Given the description of an element on the screen output the (x, y) to click on. 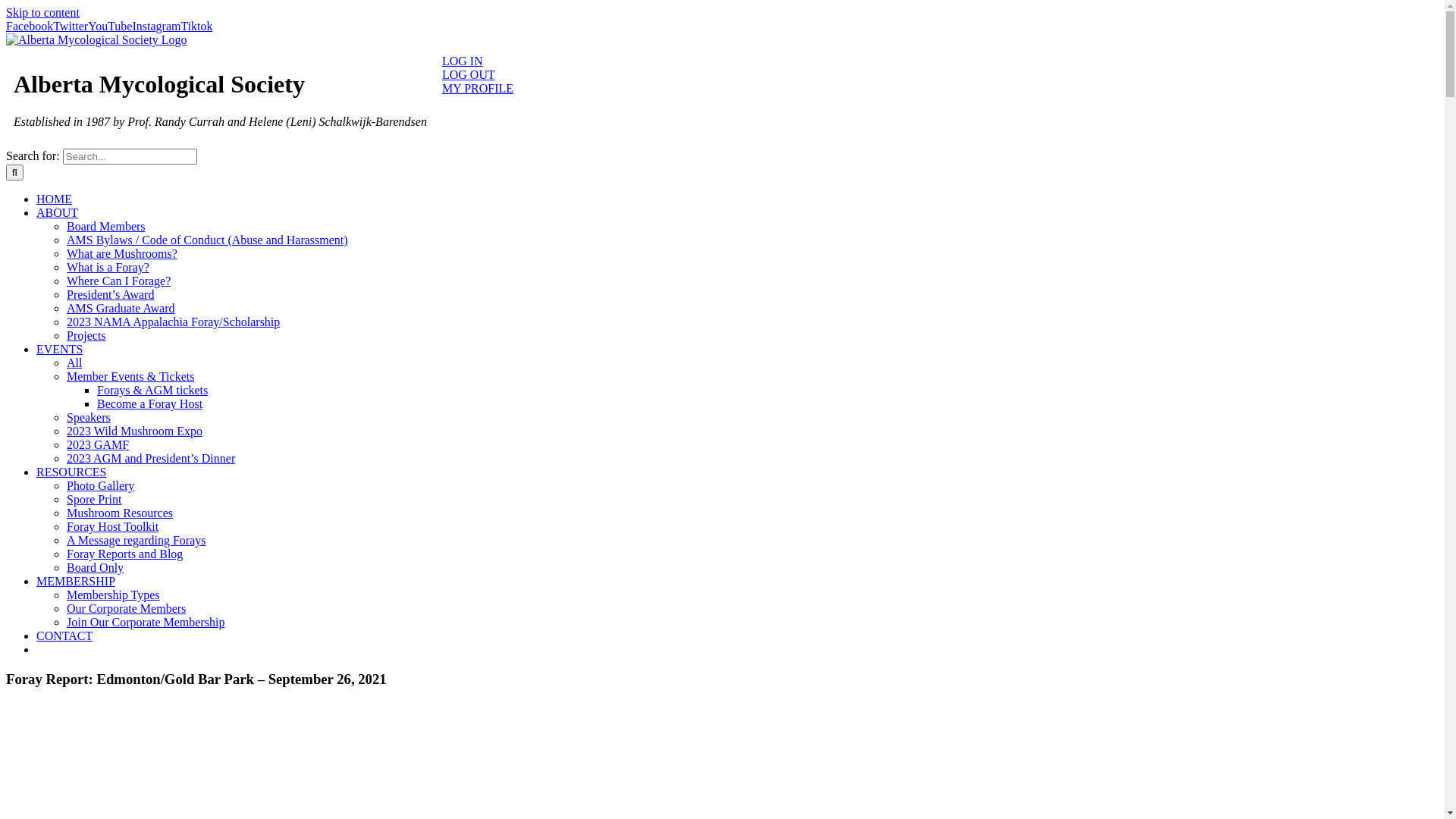
Our Corporate Members Element type: text (125, 608)
All Element type: text (73, 362)
Instagram Element type: text (155, 25)
Join Our Corporate Membership Element type: text (145, 621)
A Message regarding Forays Element type: text (136, 539)
Facebook Element type: text (29, 25)
Forays & AGM tickets Element type: text (152, 389)
Speakers Element type: text (88, 417)
HOME Element type: text (54, 198)
LOG OUT Element type: text (468, 74)
Become a Foray Host Element type: text (149, 403)
What is a Foray? Element type: text (107, 266)
MY PROFILE Element type: text (477, 87)
MEMBERSHIP Element type: text (75, 580)
EVENTS Element type: text (59, 348)
Board Members Element type: text (105, 225)
Member Events & Tickets Element type: text (130, 376)
Foray Host Toolkit Element type: text (112, 526)
ABOUT Element type: text (57, 212)
Board Only Element type: text (94, 567)
YouTube Element type: text (109, 25)
LOG IN Element type: text (462, 60)
What are Mushrooms? Element type: text (121, 253)
CONTACT Element type: text (64, 635)
Where Can I Forage? Element type: text (118, 280)
AMS Bylaws / Code of Conduct (Abuse and Harassment) Element type: text (207, 239)
Tiktok Element type: text (196, 25)
Membership Types Element type: text (113, 594)
Spore Print Element type: text (93, 498)
Foray Reports and Blog Element type: text (124, 553)
Mushroom Resources Element type: text (119, 512)
Projects Element type: text (86, 335)
AMS Graduate Award Element type: text (120, 307)
2023 Wild Mushroom Expo Element type: text (134, 430)
Photo Gallery Element type: text (100, 485)
2023 NAMA Appalachia Foray/Scholarship Element type: text (172, 321)
Skip to content Element type: text (42, 12)
2023 GAMF Element type: text (97, 444)
RESOURCES Element type: text (71, 471)
Twitter Element type: text (70, 25)
